Given the description of an element on the screen output the (x, y) to click on. 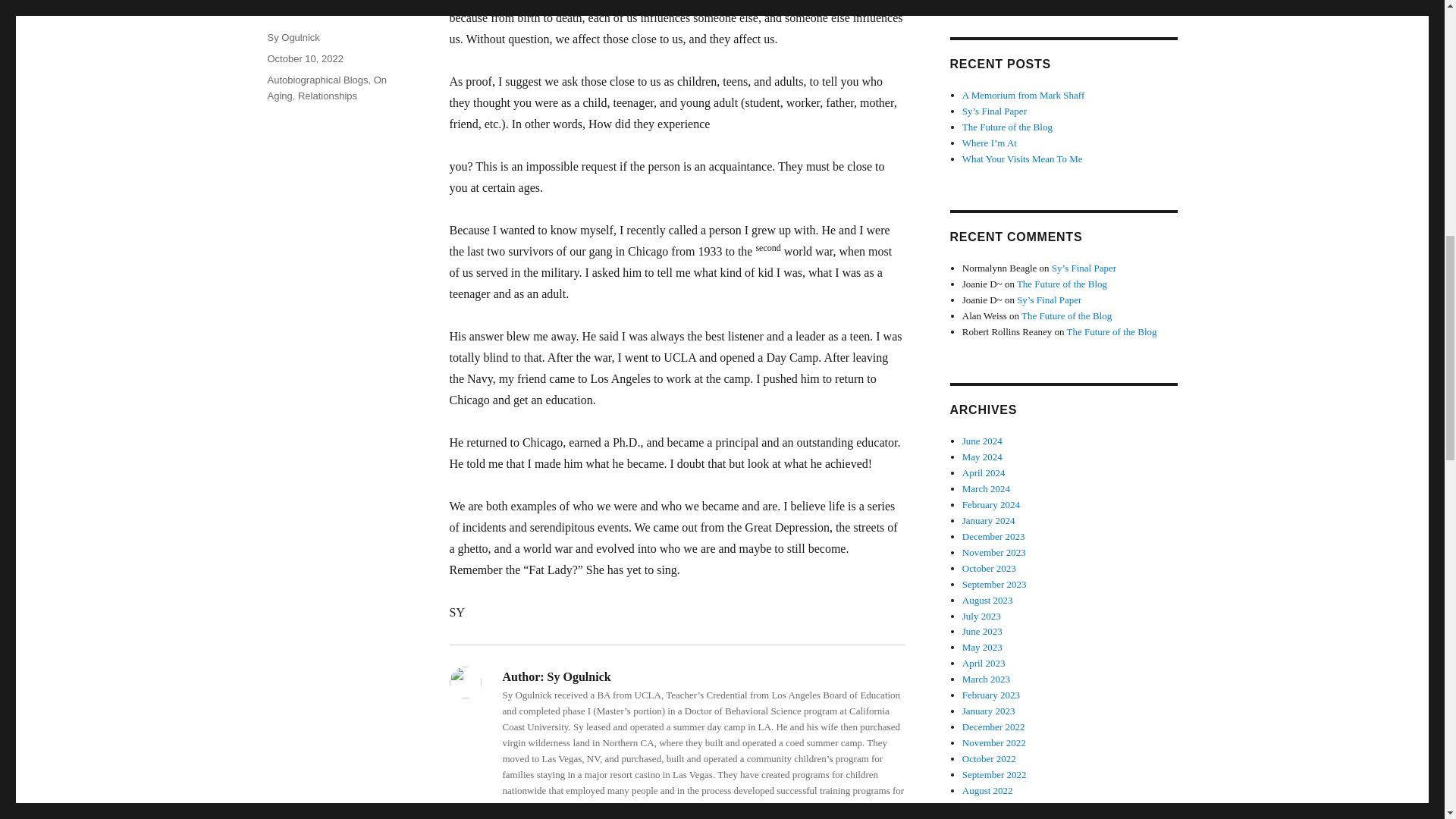
Relationships (327, 95)
On Aging (326, 87)
What Your Visits Mean To Me (1022, 158)
January 2024 (988, 520)
The Future of the Blog (1067, 315)
December 2023 (993, 536)
The Future of the Blog (1110, 331)
June 2024 (982, 440)
April 2024 (984, 472)
Sy Ogulnick (292, 37)
March 2024 (986, 488)
Autobiographical Blogs (317, 79)
October 10, 2022 (304, 58)
February 2024 (991, 504)
The Future of the Blog (1007, 126)
